Given the description of an element on the screen output the (x, y) to click on. 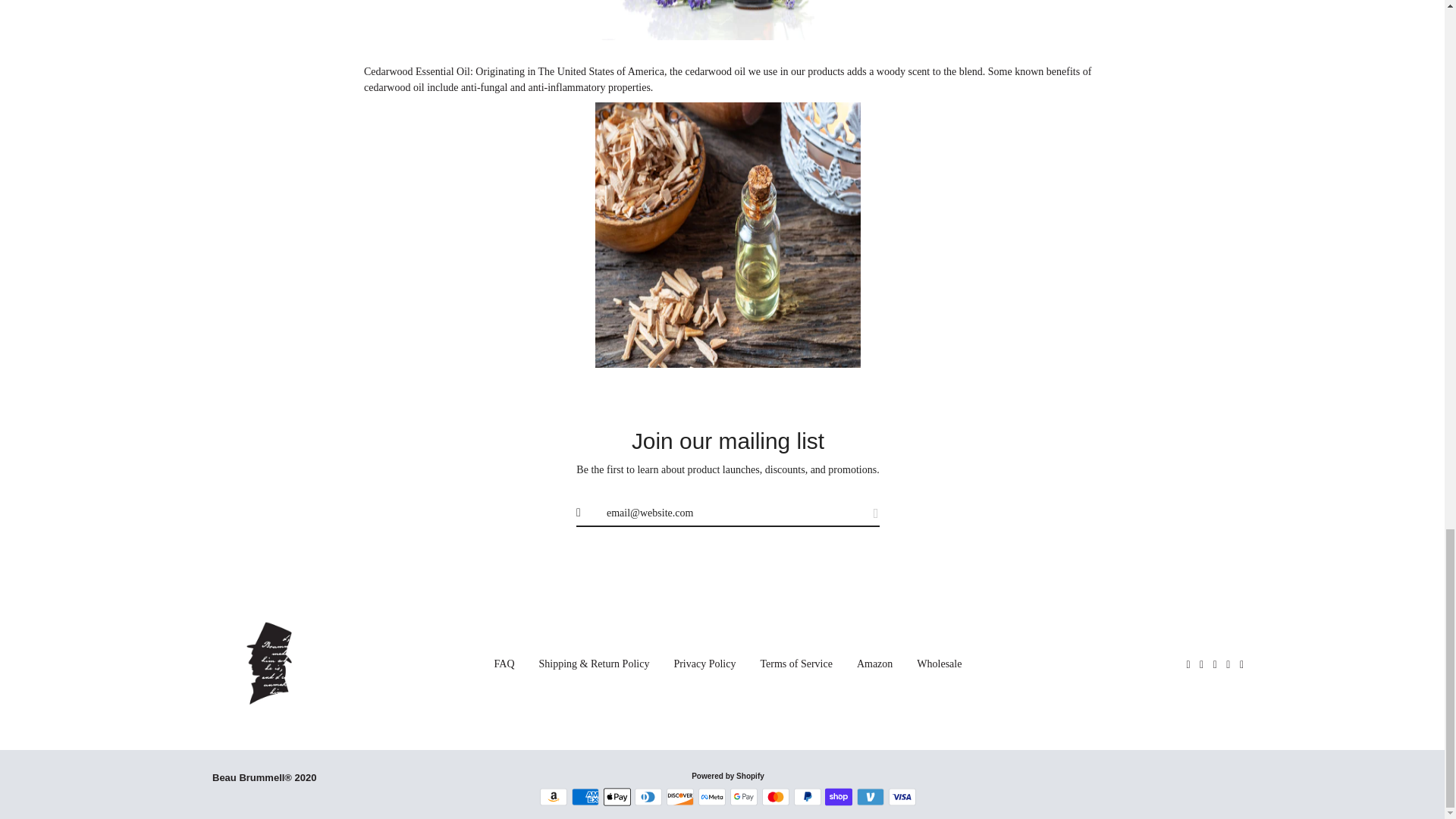
American Express (585, 796)
Meta Pay (711, 796)
Amazon (553, 796)
Diners Club (648, 796)
Shop Pay (838, 796)
Apple Pay (617, 796)
PayPal (807, 796)
Venmo (870, 796)
Discover (680, 796)
Visa (901, 796)
